Given the description of an element on the screen output the (x, y) to click on. 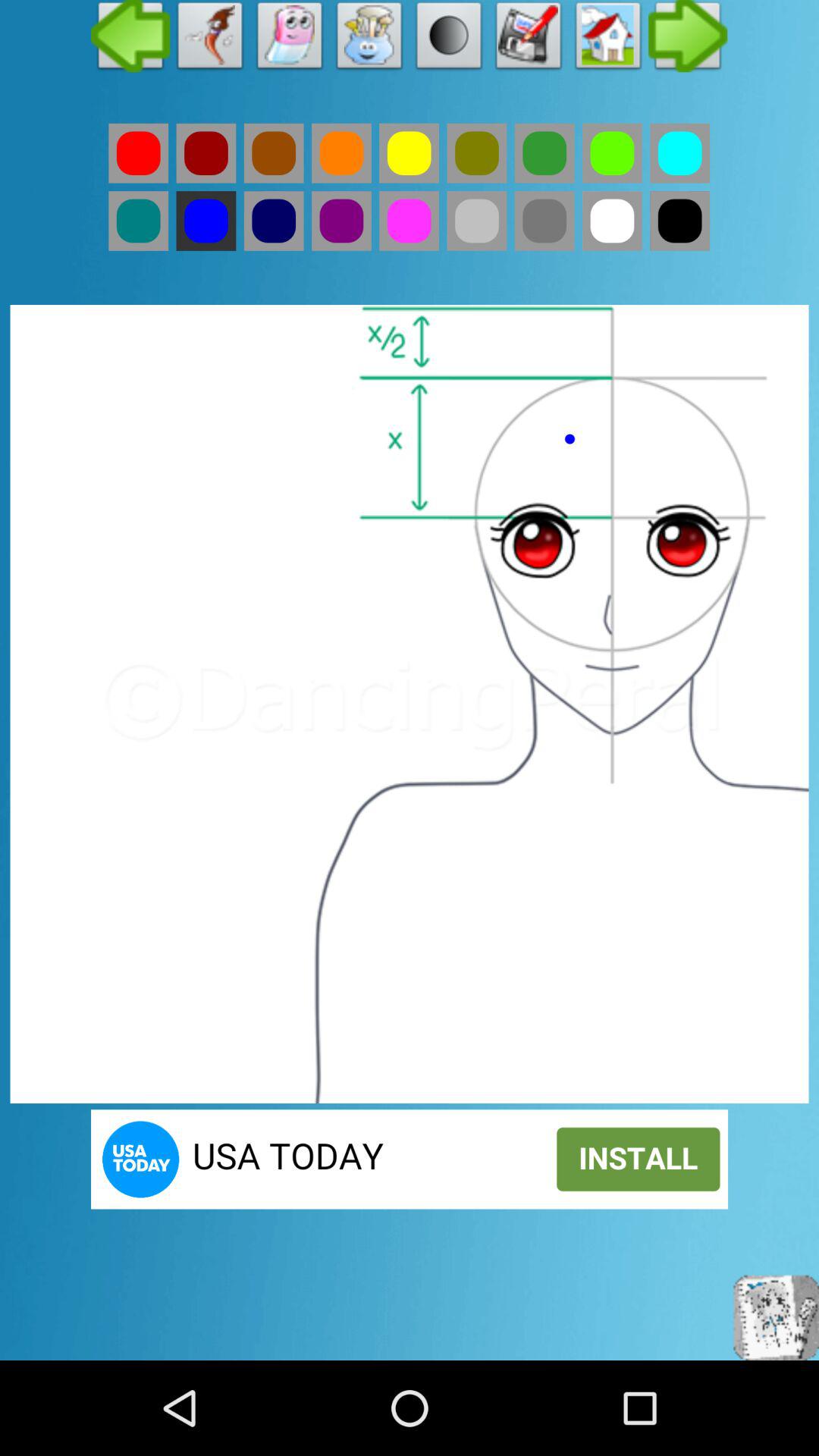
light gray color (476, 220)
